Given the description of an element on the screen output the (x, y) to click on. 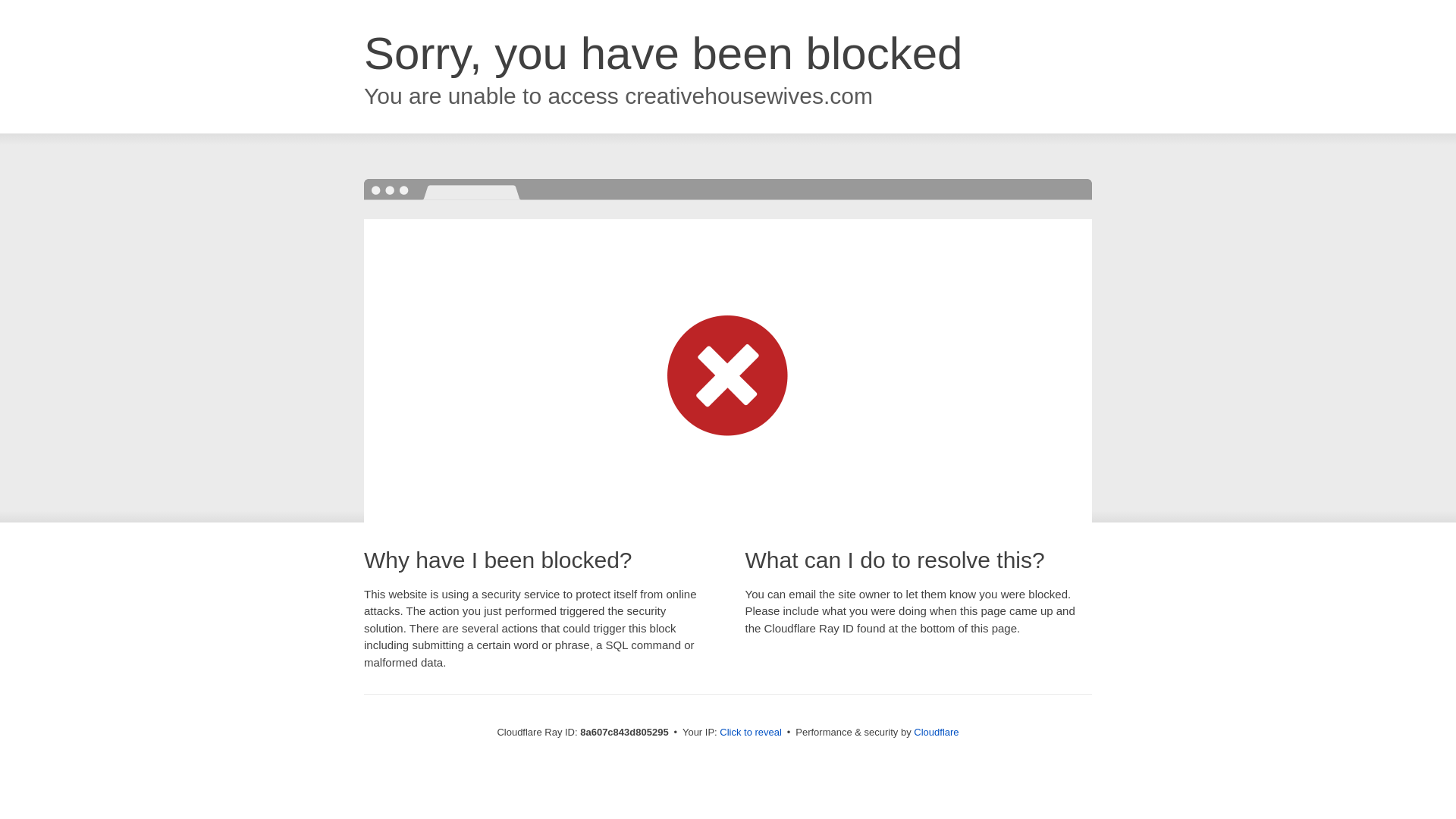
Cloudflare (936, 731)
Click to reveal (750, 732)
